Given the description of an element on the screen output the (x, y) to click on. 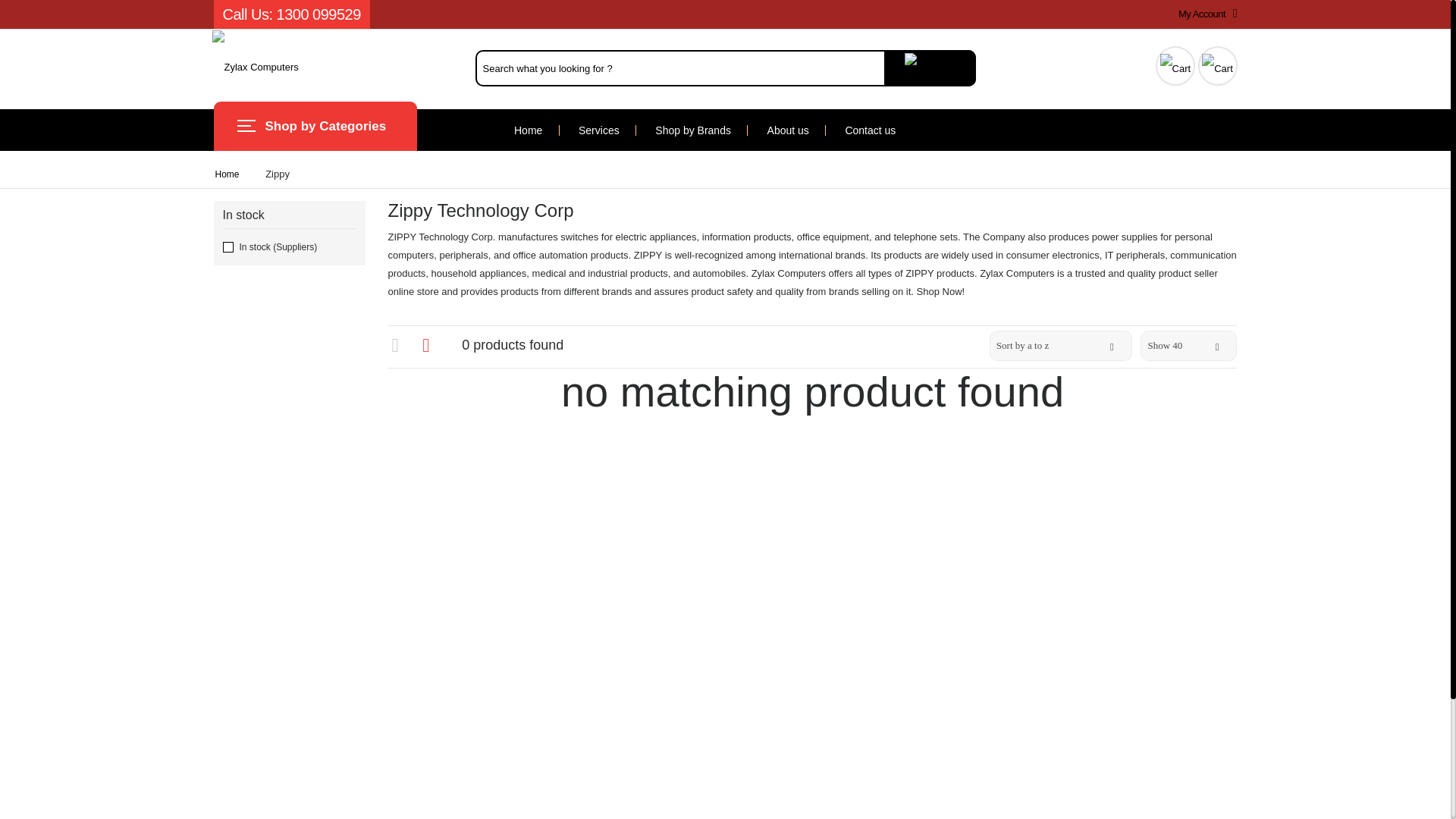
Tracking page (1175, 64)
My Account (1204, 13)
Zylax Computers (255, 66)
Cart page (1217, 64)
Call Us: 1300 099529 (291, 13)
. (929, 67)
